Given the description of an element on the screen output the (x, y) to click on. 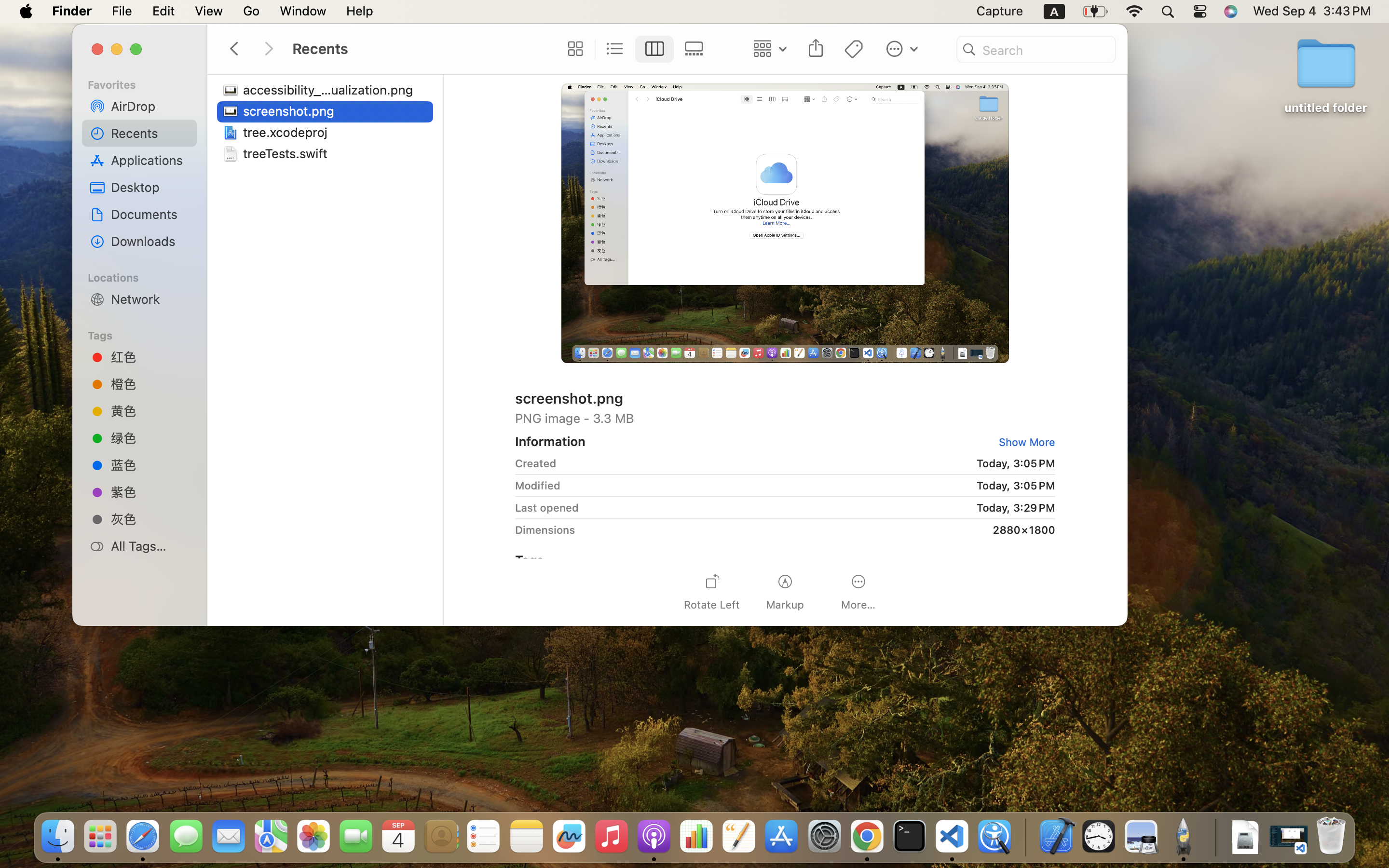
Last opened Element type: AXStaticText (546, 507)
Modified Element type: AXStaticText (537, 484)
Created Element type: AXStaticText (535, 462)
treeTests.swift Element type: AXTextField (287, 153)
橙色 Element type: AXStaticText (149, 383)
